Given the description of an element on the screen output the (x, y) to click on. 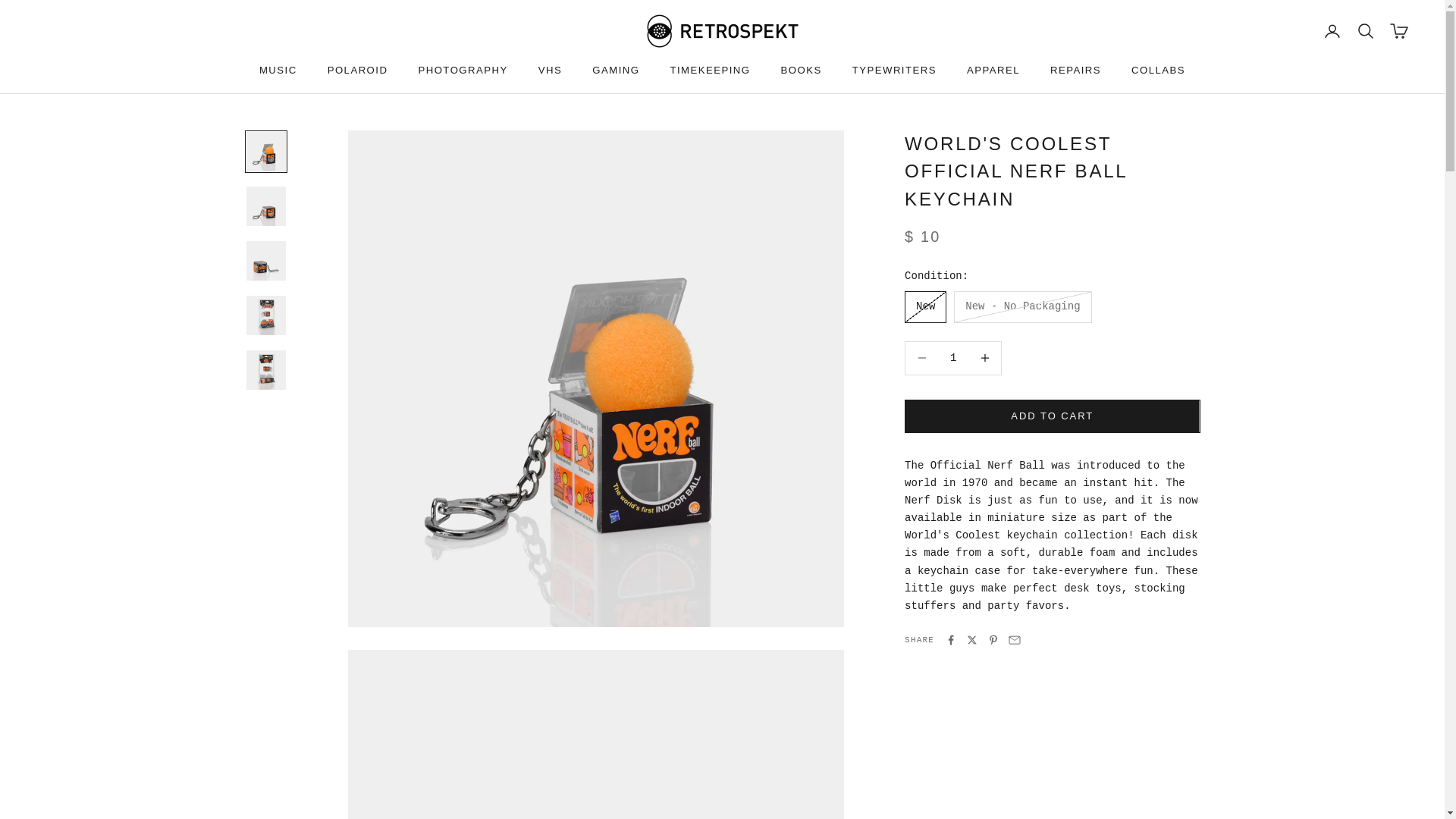
Retrospekt (721, 30)
1 (952, 358)
